Given the description of an element on the screen output the (x, y) to click on. 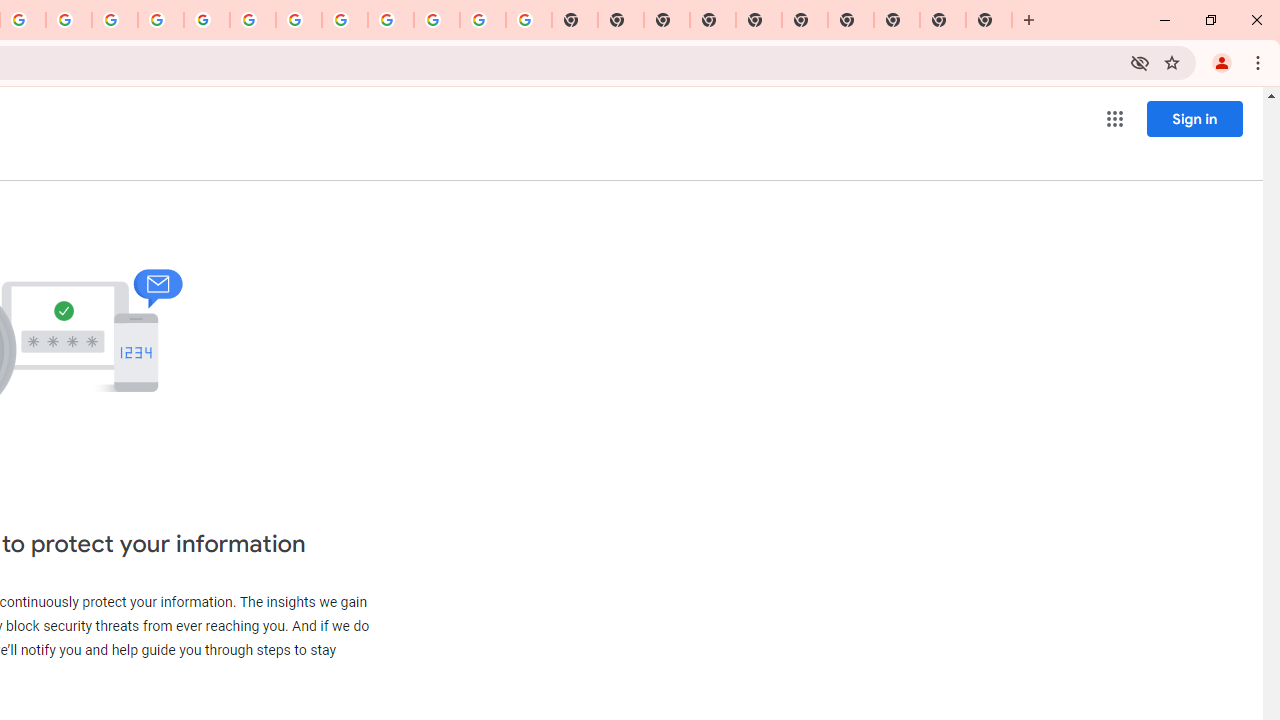
Privacy Help Center - Policies Help (115, 20)
New Tab (989, 20)
